Given the description of an element on the screen output the (x, y) to click on. 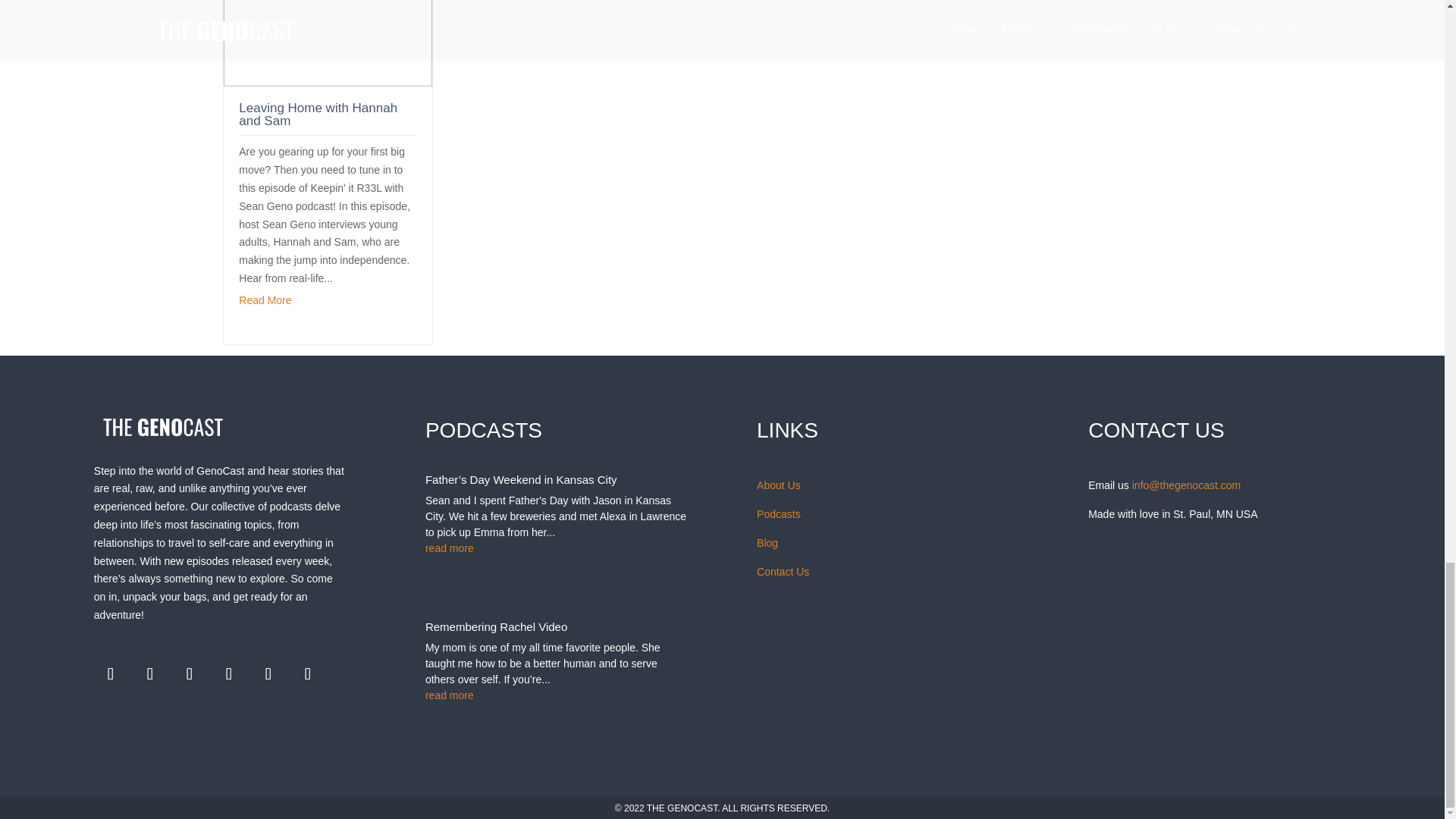
read more (556, 548)
Follow on Spotify (268, 674)
Remembering Rachel Video (496, 626)
THE GENOCAST LOGO PNG FILE (162, 426)
Follow on Instagram (189, 674)
Leaving Home with Hannah and Sam (317, 113)
Follow on Amazon (307, 674)
Read More (264, 300)
Follow on iTunes (229, 674)
Follow on Facebook (111, 674)
